Given the description of an element on the screen output the (x, y) to click on. 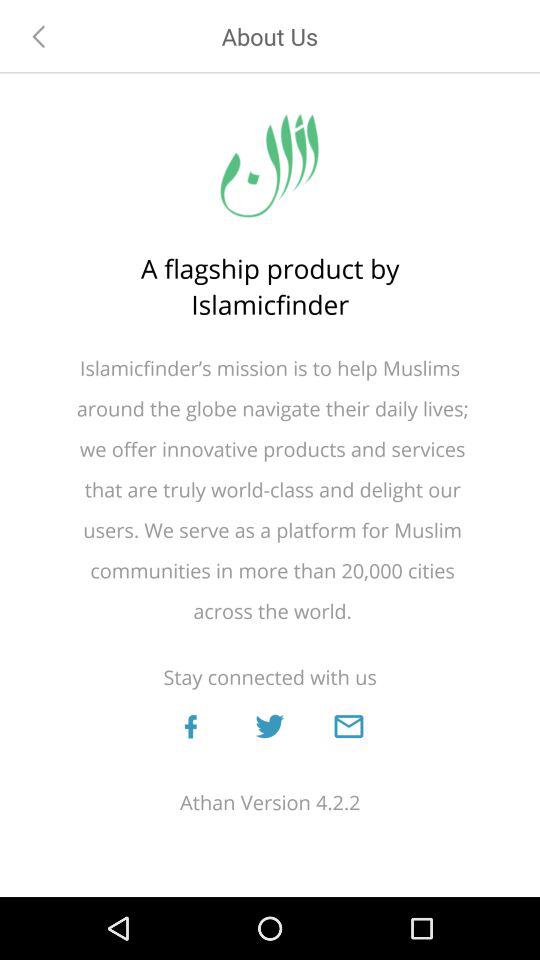
choose the item above the a flagship product (39, 36)
